Given the description of an element on the screen output the (x, y) to click on. 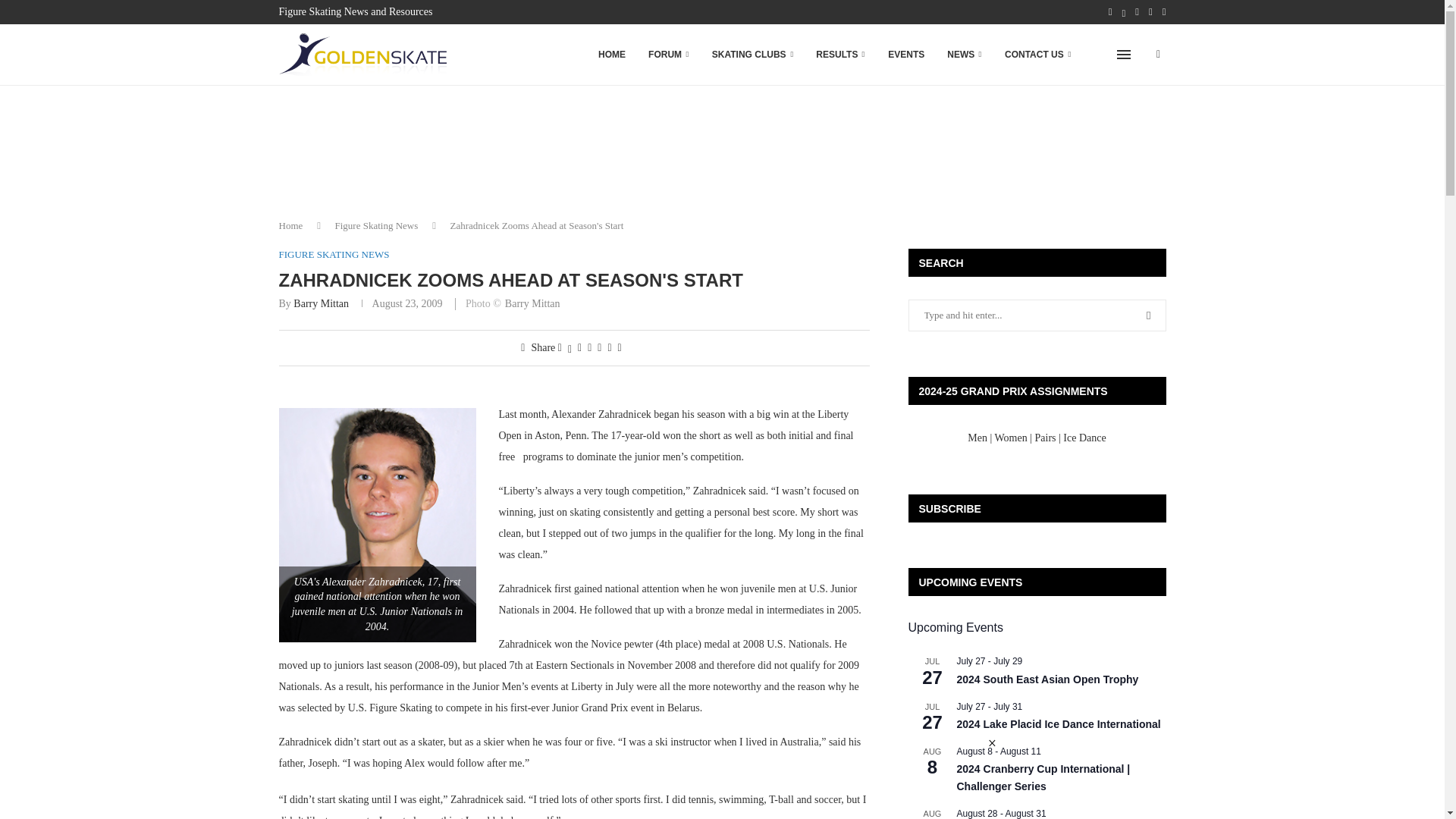
RESULTS (840, 54)
FORUM (668, 54)
SKATING CLUBS (752, 54)
